Given the description of an element on the screen output the (x, y) to click on. 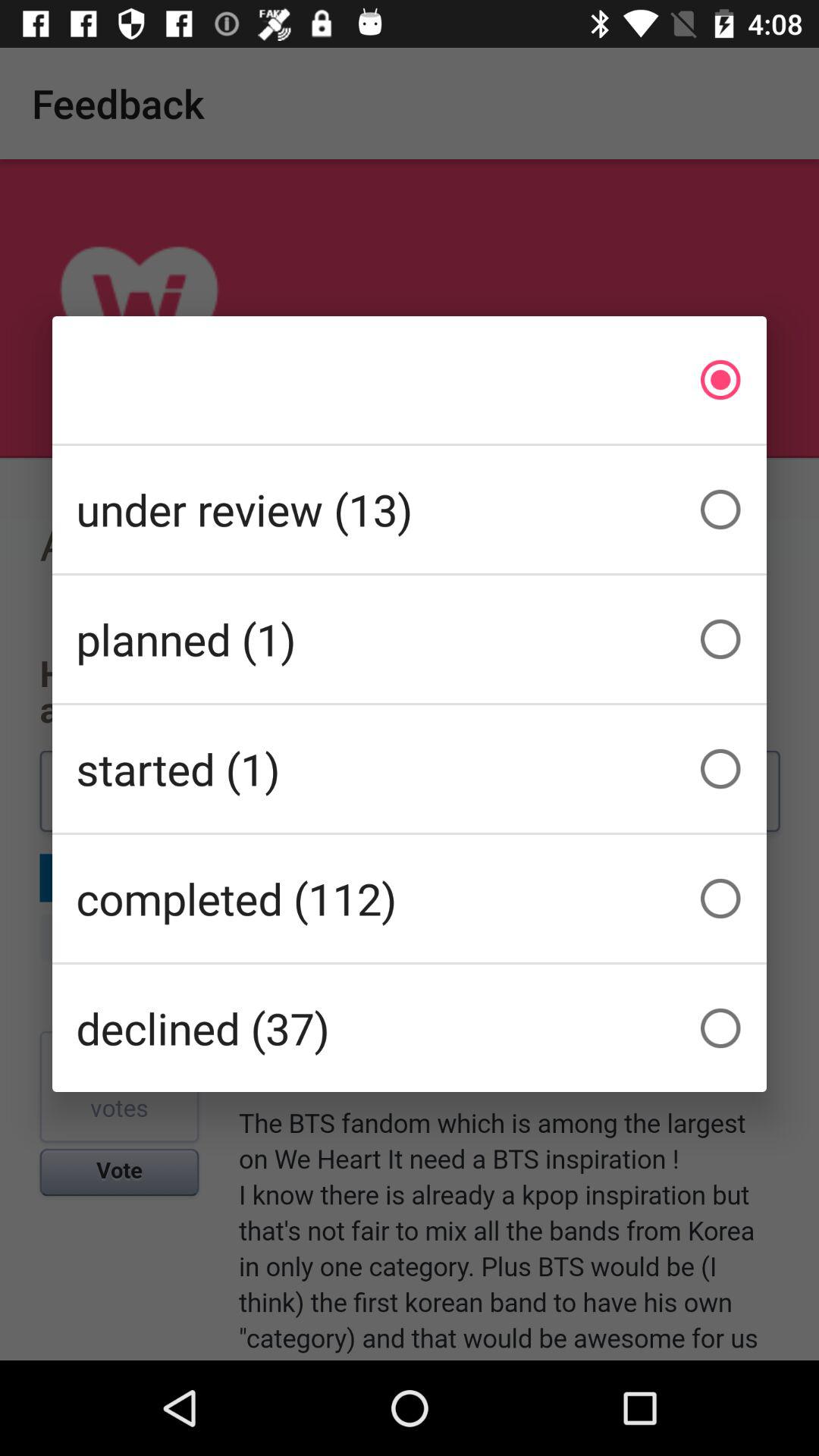
click the under review (13) item (409, 509)
